Given the description of an element on the screen output the (x, y) to click on. 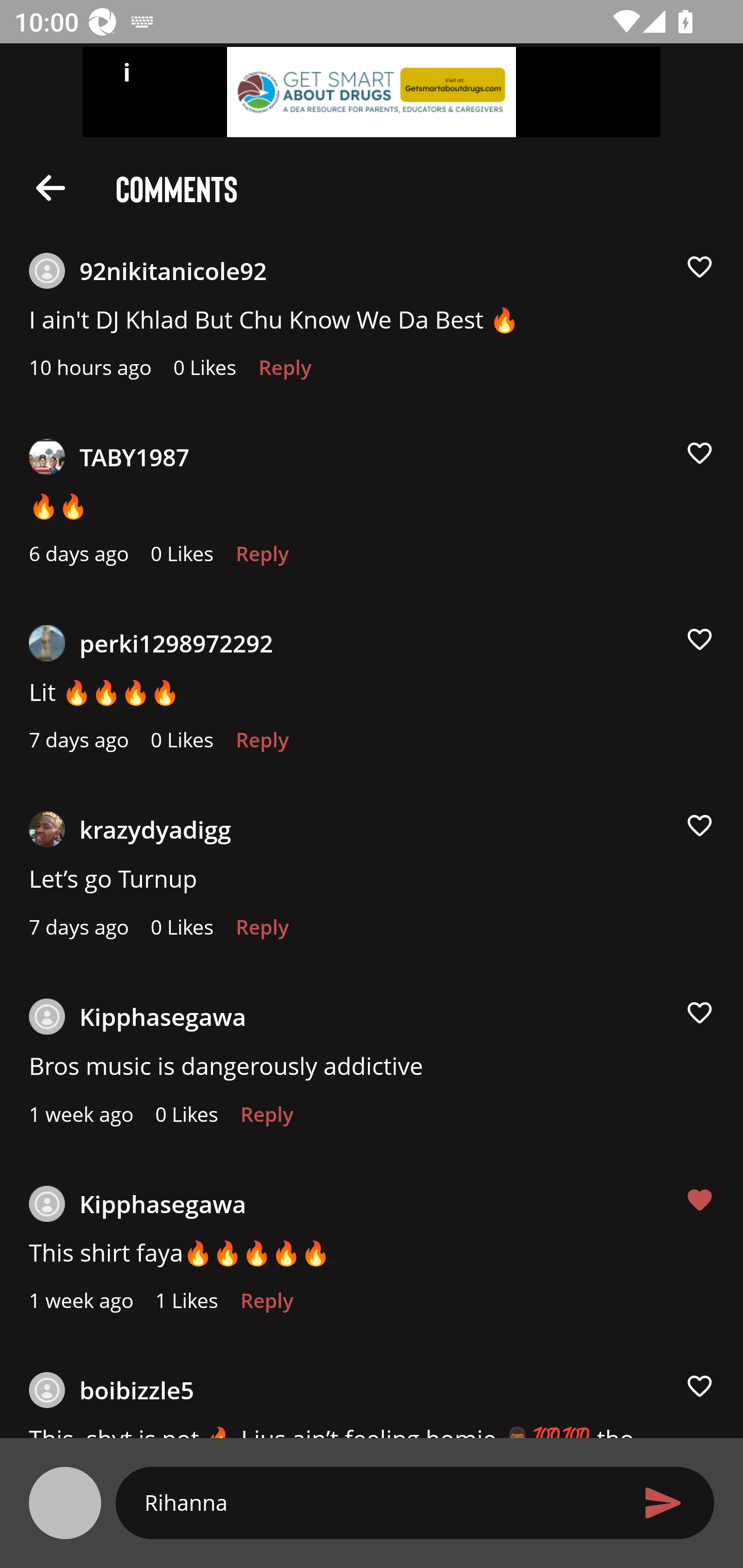
Description (50, 187)
Reply (285, 372)
Reply (261, 558)
Reply (261, 744)
Reply (261, 932)
Reply (266, 1119)
Reply (266, 1305)
Rihanna (378, 1502)
